Given the description of an element on the screen output the (x, y) to click on. 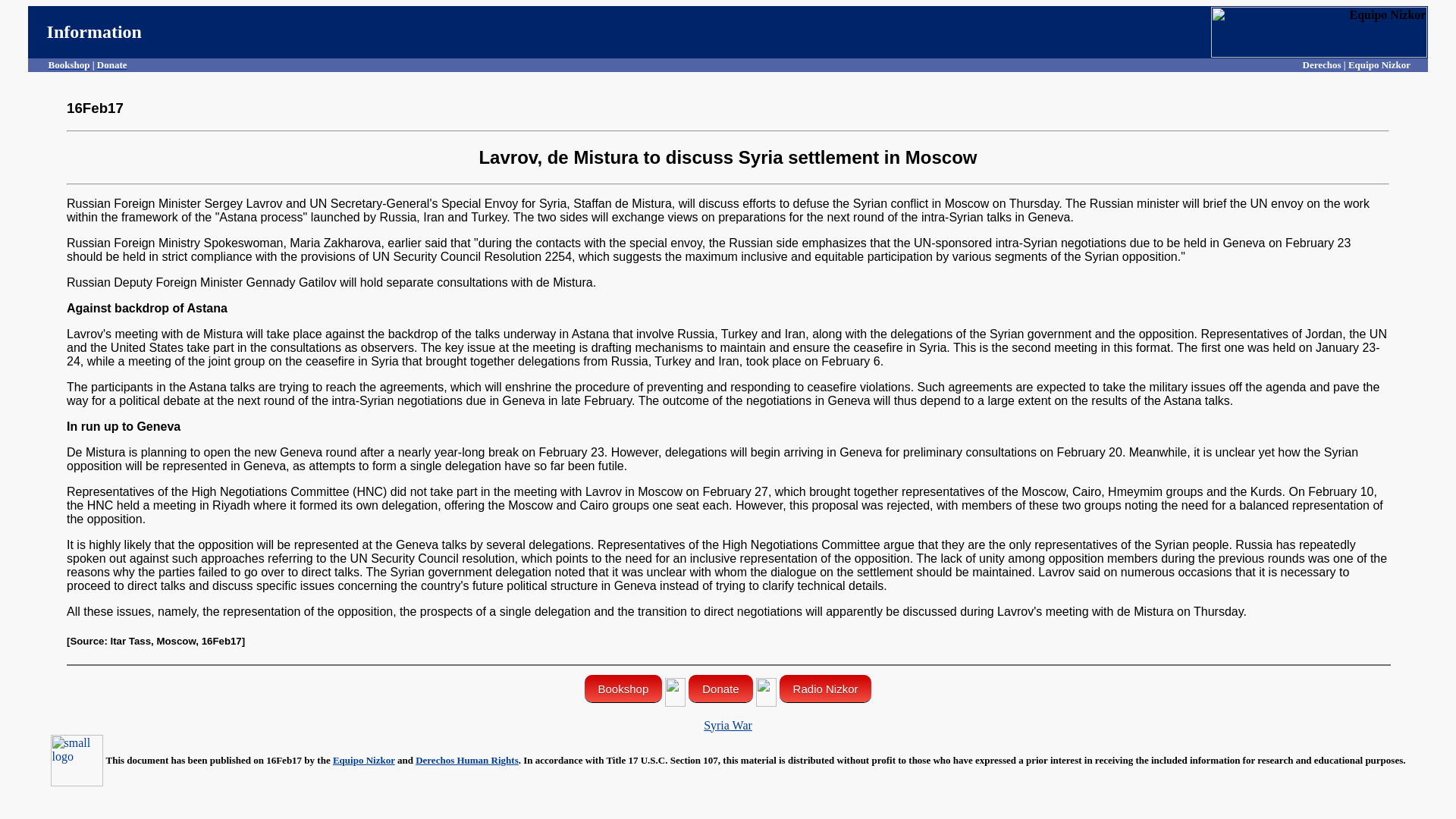
Syria War (727, 725)
Donate (112, 64)
Bookshop (69, 64)
Radio Nizkor (825, 687)
Donate (720, 687)
Equipo Nizkor (363, 759)
Derechos Human Rights (466, 759)
Bookshop (623, 687)
